Given the description of an element on the screen output the (x, y) to click on. 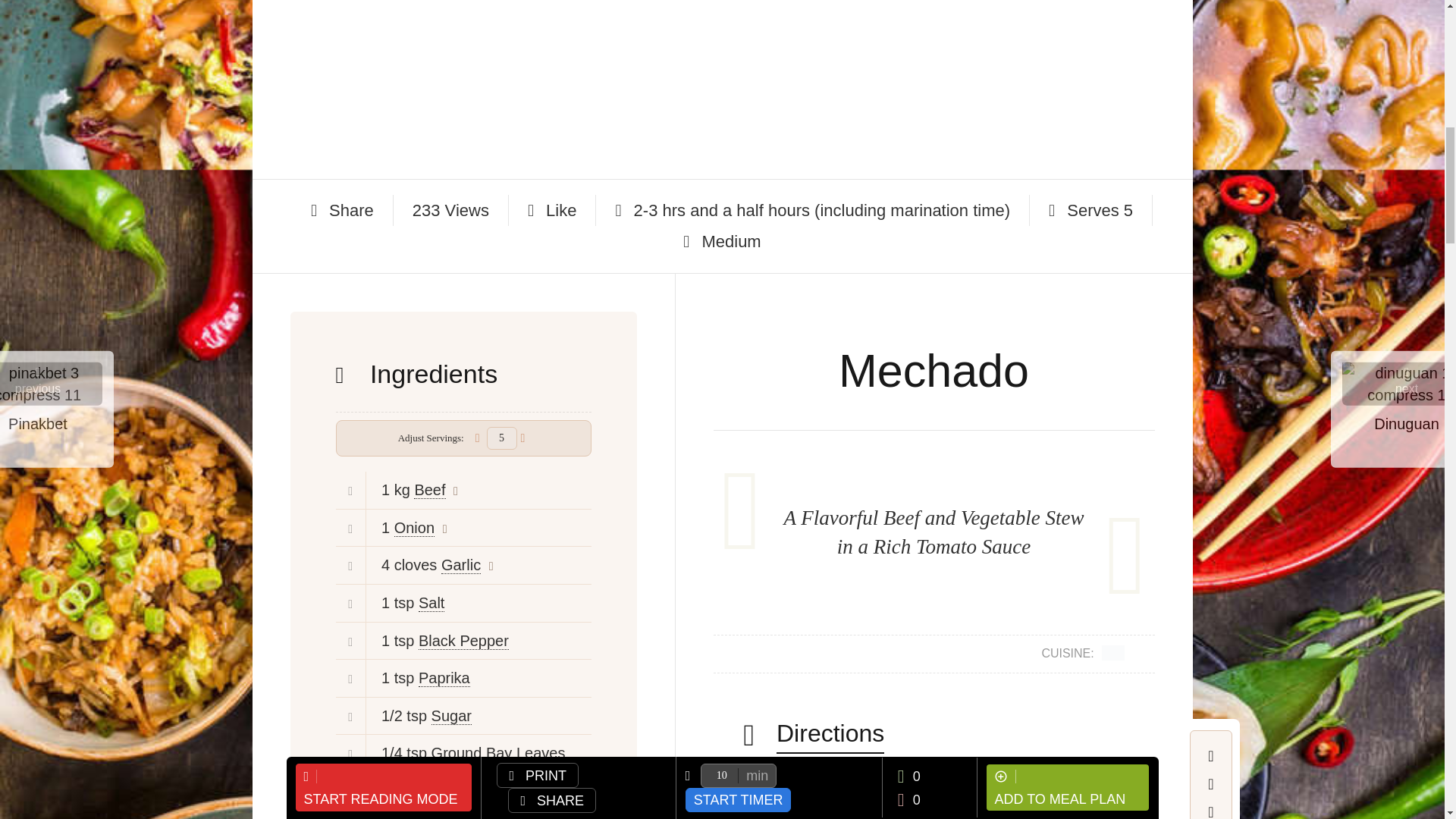
Salt (431, 602)
Ground Bay Leaves (498, 753)
Soy Sauce (471, 791)
Garlic (460, 565)
Sugar (450, 715)
Black Pepper (463, 641)
Beef (429, 489)
Paprika (444, 678)
Onion (413, 528)
5 (501, 437)
Share (342, 210)
Like (551, 210)
